Given the description of an element on the screen output the (x, y) to click on. 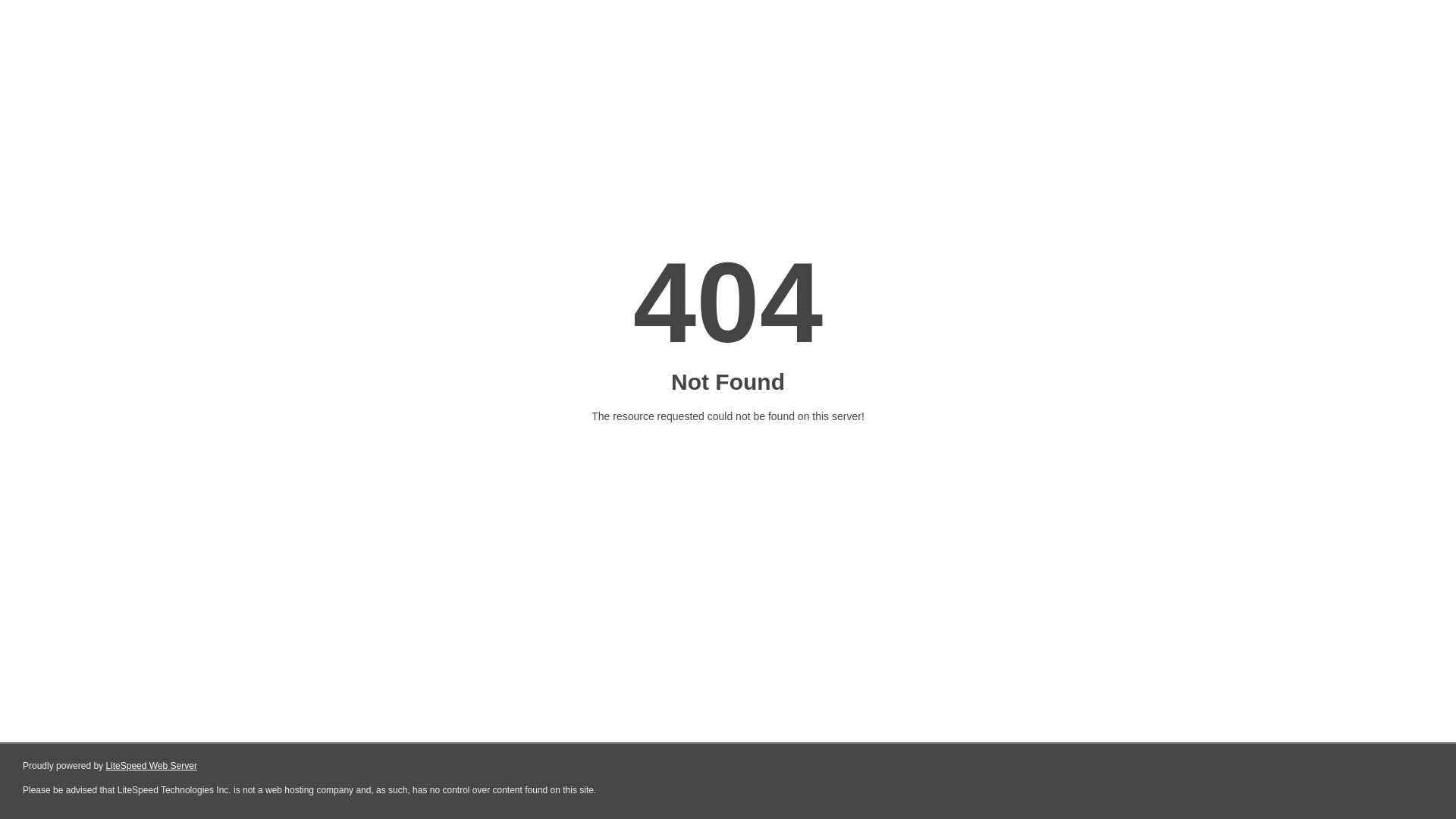
LiteSpeed Web Server Element type: text (151, 765)
